Given the description of an element on the screen output the (x, y) to click on. 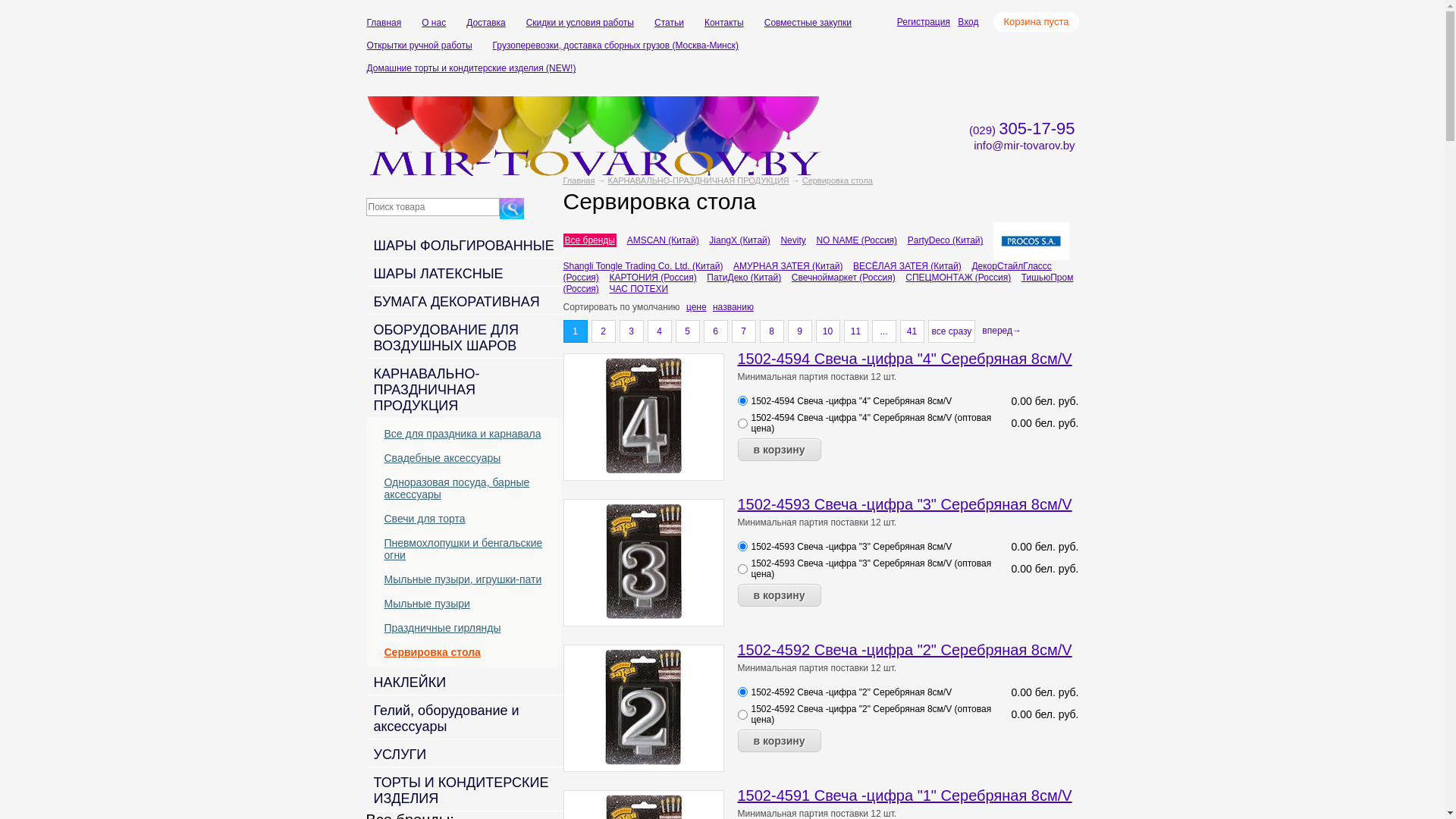
... Element type: text (884, 331)
11 Element type: text (855, 331)
41 Element type: text (911, 331)
10 Element type: text (827, 331)
3 Element type: text (630, 331)
4 Element type: text (659, 331)
Nevity Element type: text (792, 240)
9 Element type: text (799, 331)
8 Element type: text (771, 331)
1 Element type: text (574, 331)
2 Element type: text (603, 331)
7 Element type: text (743, 331)
6 Element type: text (715, 331)
5 Element type: text (686, 331)
